Given the description of an element on the screen output the (x, y) to click on. 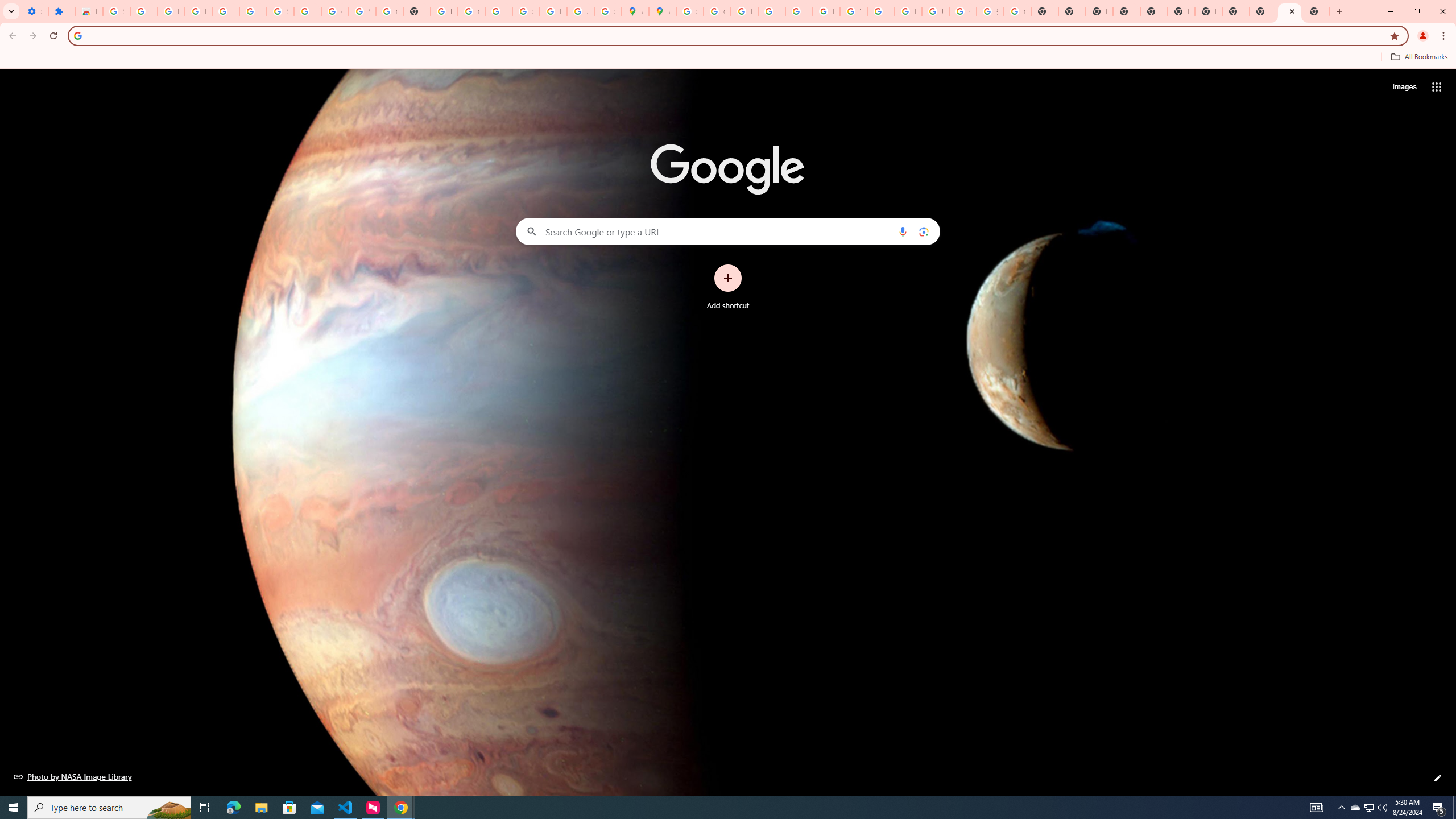
https://scholar.google.com/ (444, 11)
Photo by NASA Image Library (72, 776)
Bookmarks (728, 58)
Search Google or type a URL (727, 230)
